Given the description of an element on the screen output the (x, y) to click on. 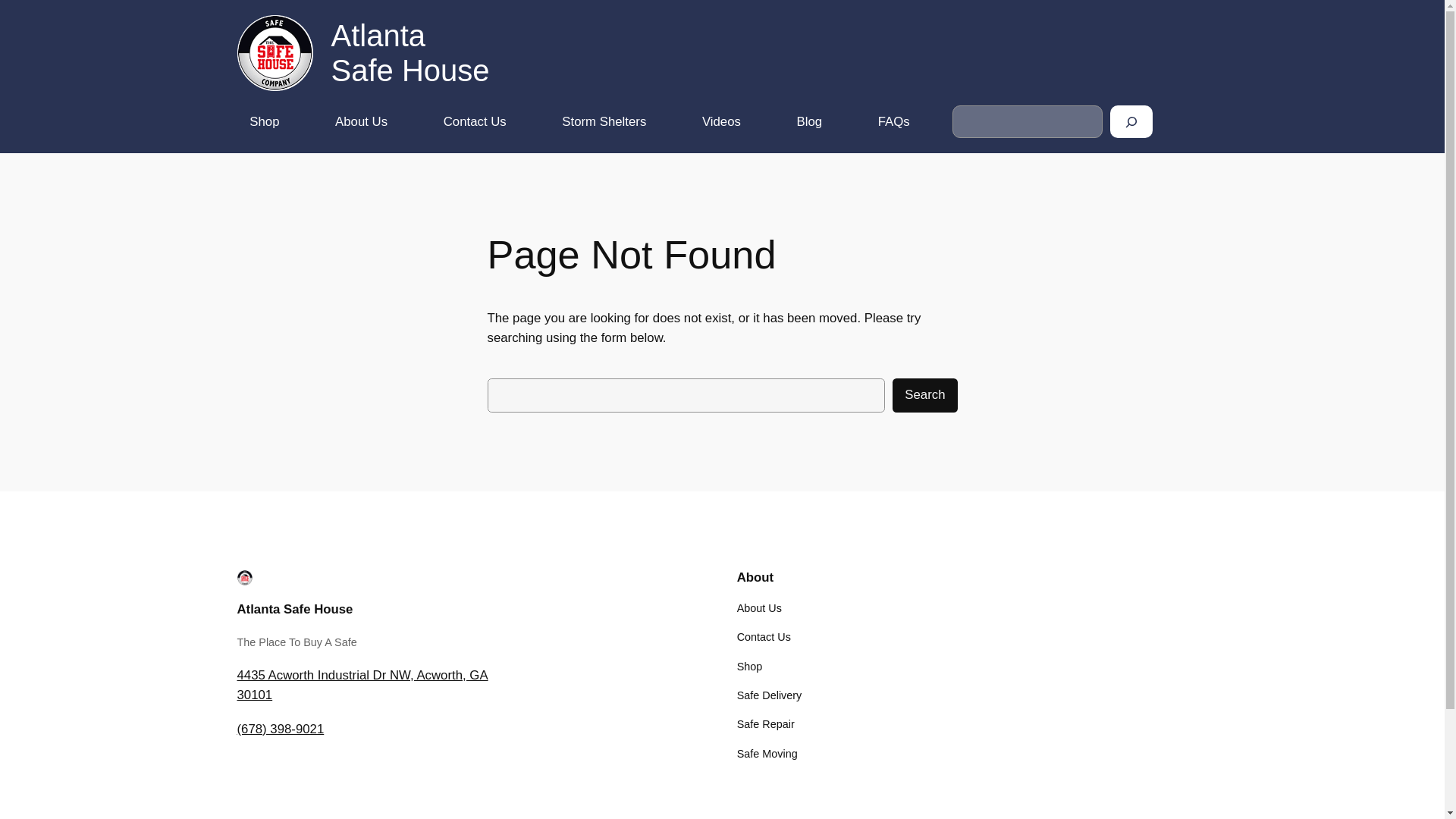
Storm Shelters (604, 121)
Contact Us (763, 636)
About Us (758, 607)
FAQs (893, 121)
Atlanta Safe House (293, 608)
Safe Delivery (769, 695)
4435 Acworth Industrial Dr NW, Acworth, GA 30101 (361, 684)
Search (924, 395)
Shop (749, 666)
Safe Repair (765, 723)
